Given the description of an element on the screen output the (x, y) to click on. 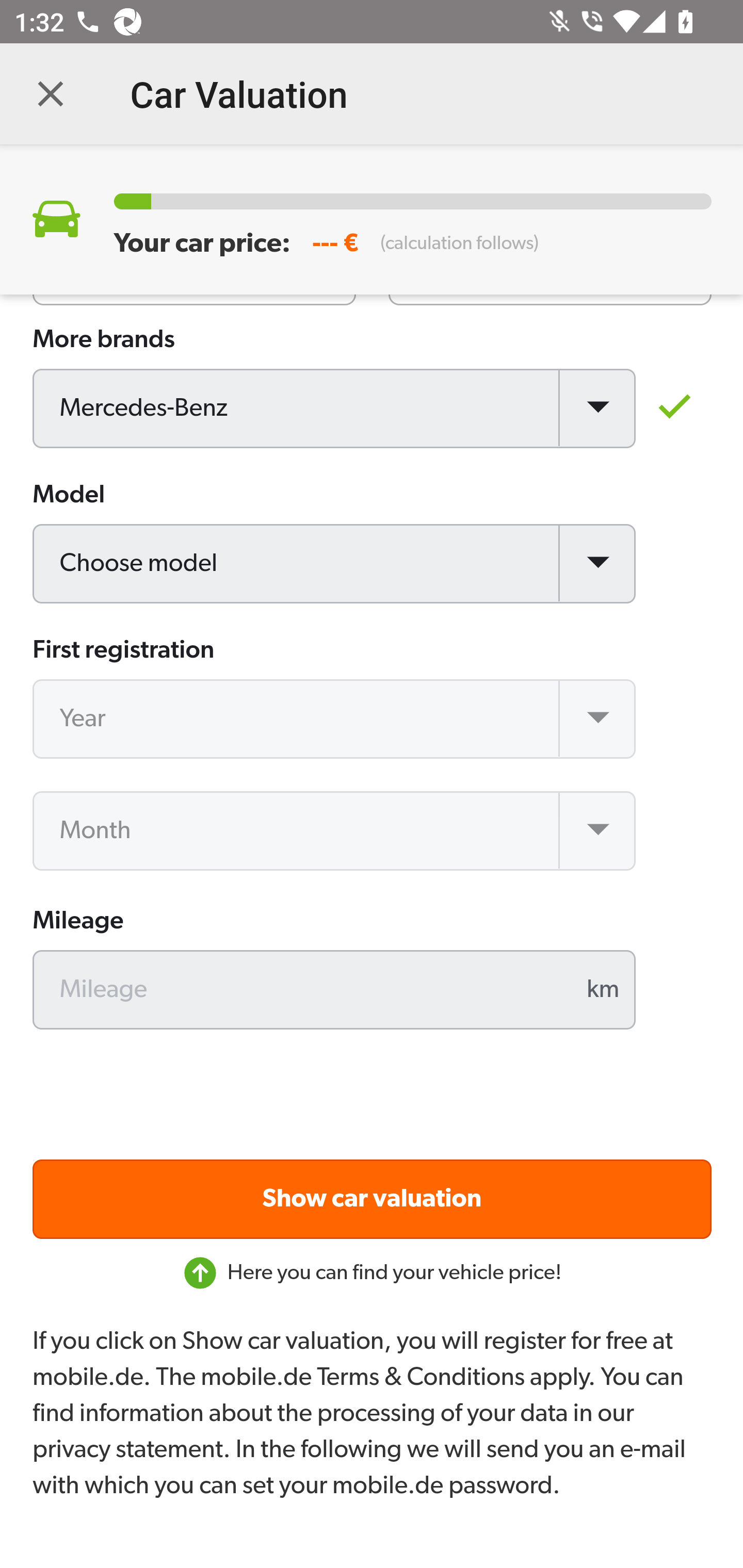
Navigate up (50, 93)
Mercedes-Benz (334, 409)
Choose model (334, 564)
Year (334, 720)
Month (334, 831)
Show car valuation (372, 1199)
